Given the description of an element on the screen output the (x, y) to click on. 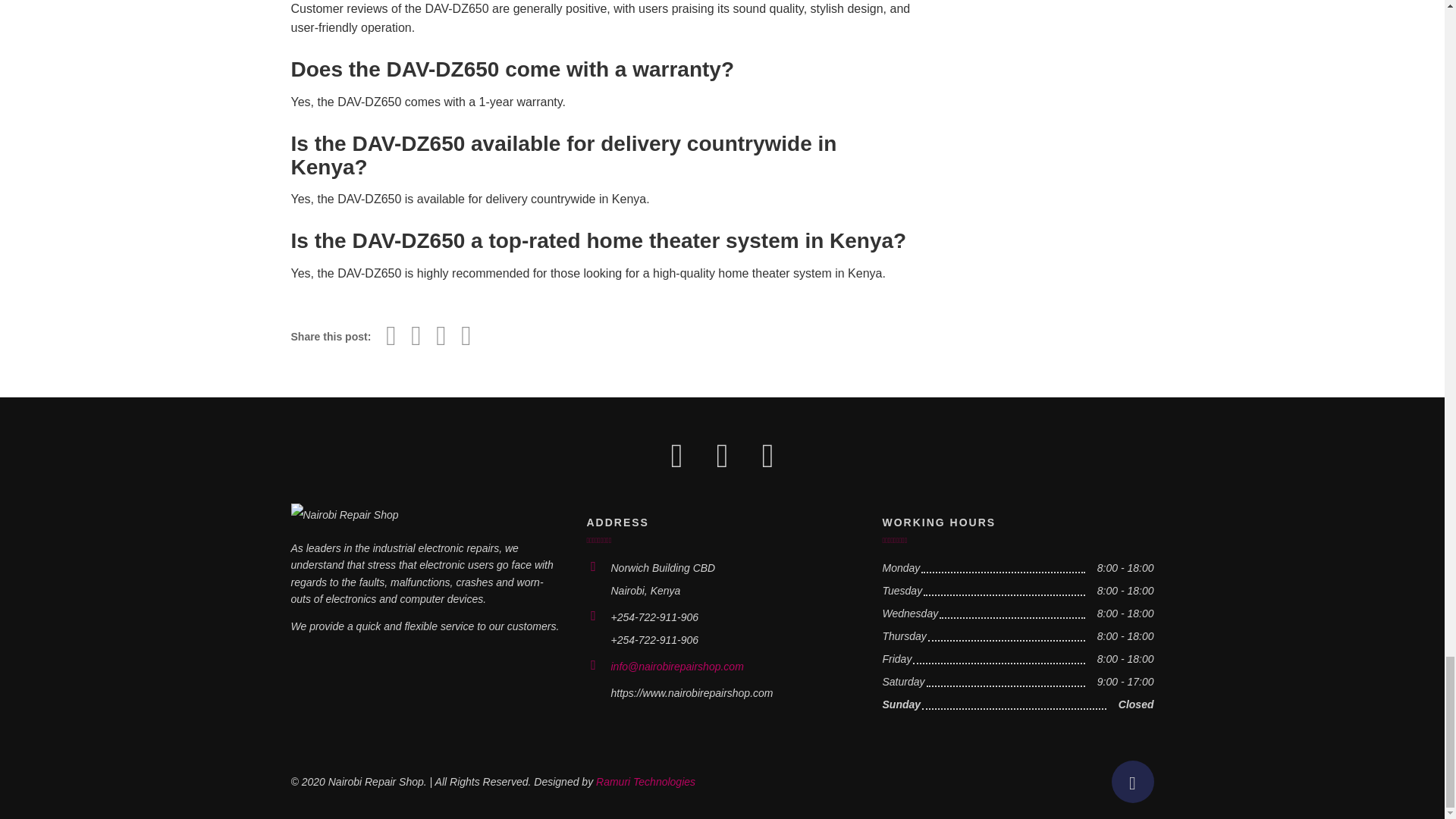
Share on LinkedIn (465, 335)
Share on Twitter (415, 335)
Scroll to top (1133, 781)
Share on Facebook (390, 335)
